Given the description of an element on the screen output the (x, y) to click on. 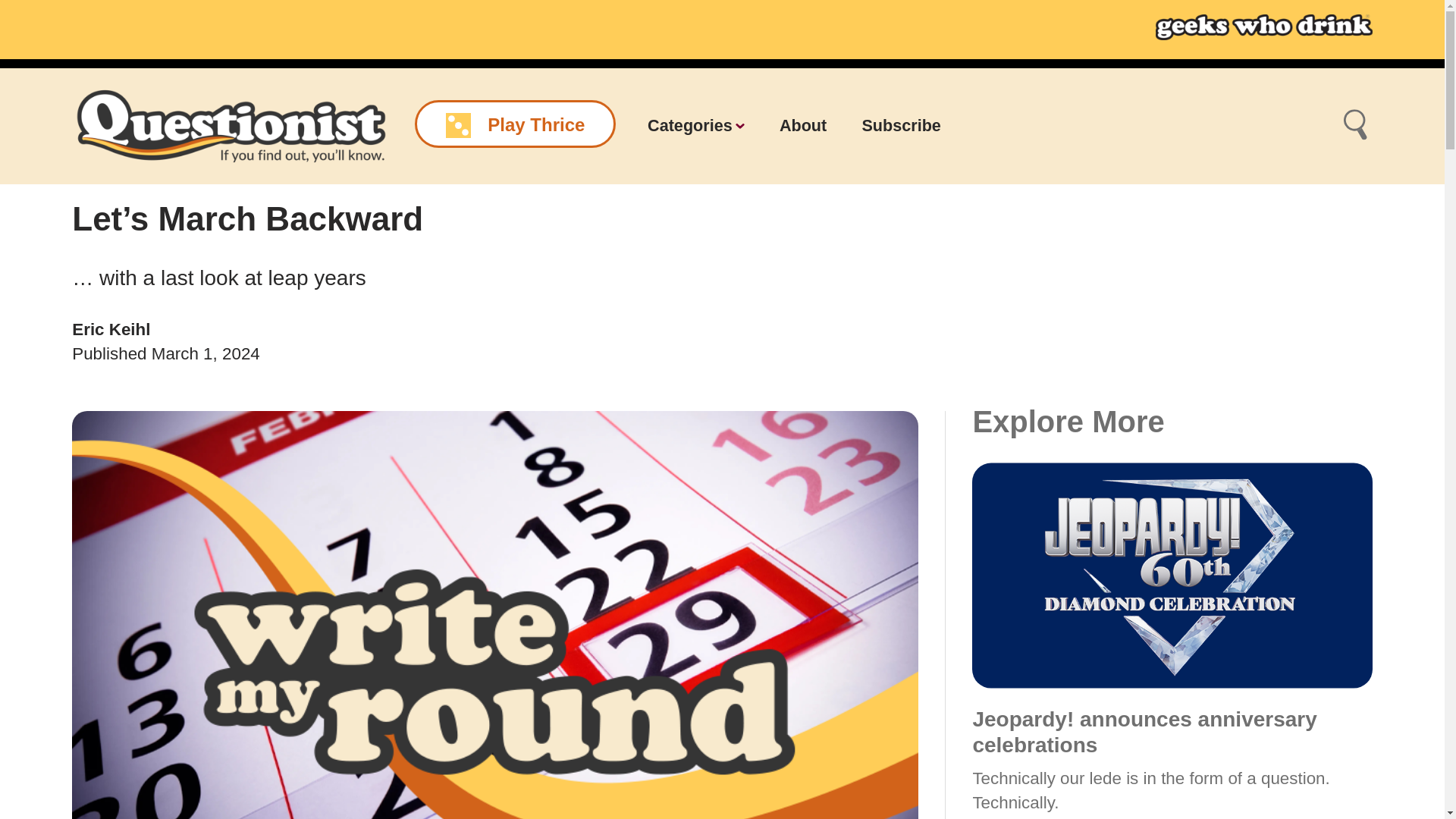
About (802, 125)
Submit (1355, 125)
Categories (696, 125)
Play Thrice (514, 123)
Subscribe (901, 125)
